Given the description of an element on the screen output the (x, y) to click on. 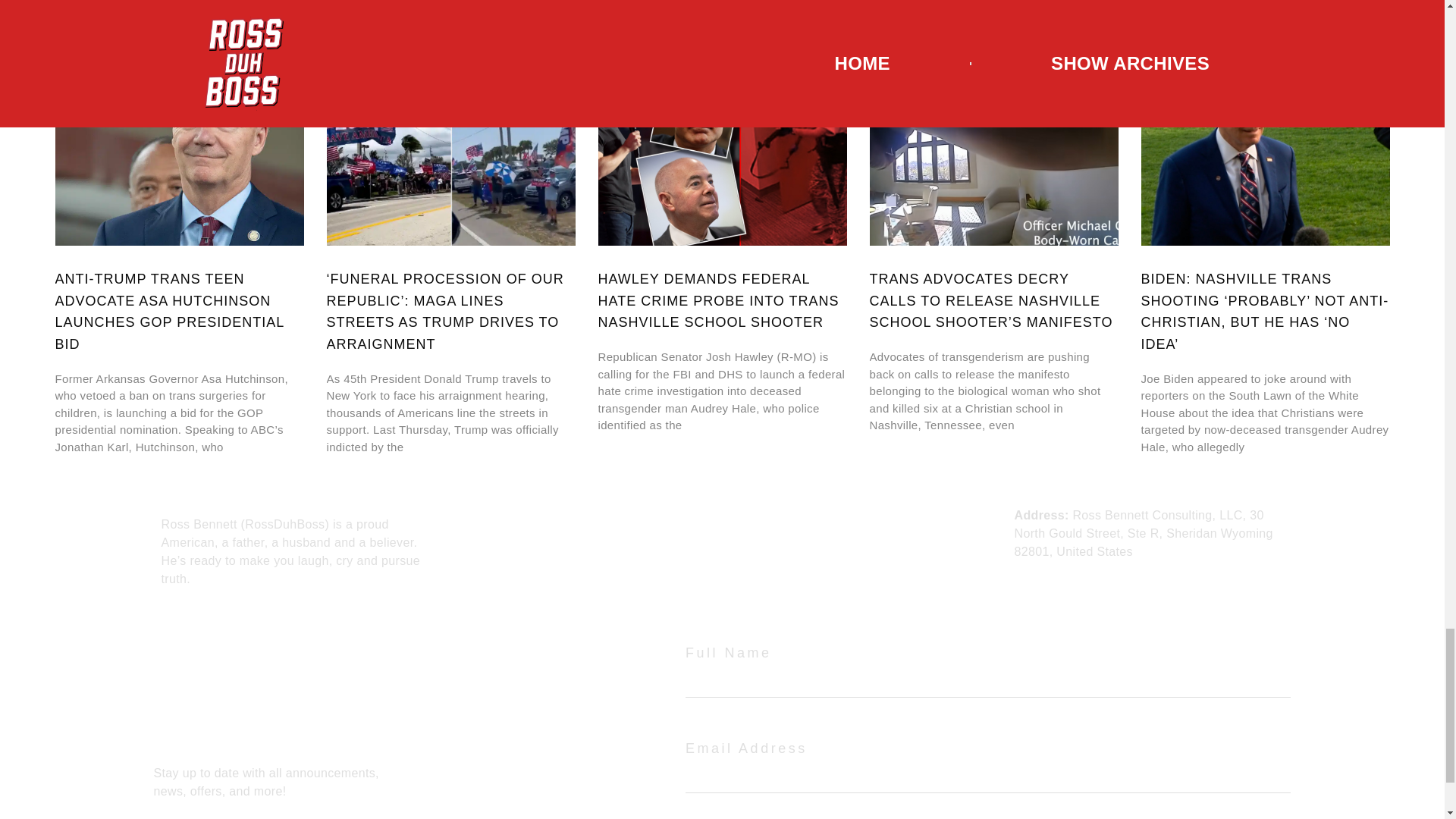
Home (530, 514)
Shipping and Return (787, 573)
Refund policy (767, 544)
Show Archives (554, 533)
Terms of Service (776, 514)
